Given the description of an element on the screen output the (x, y) to click on. 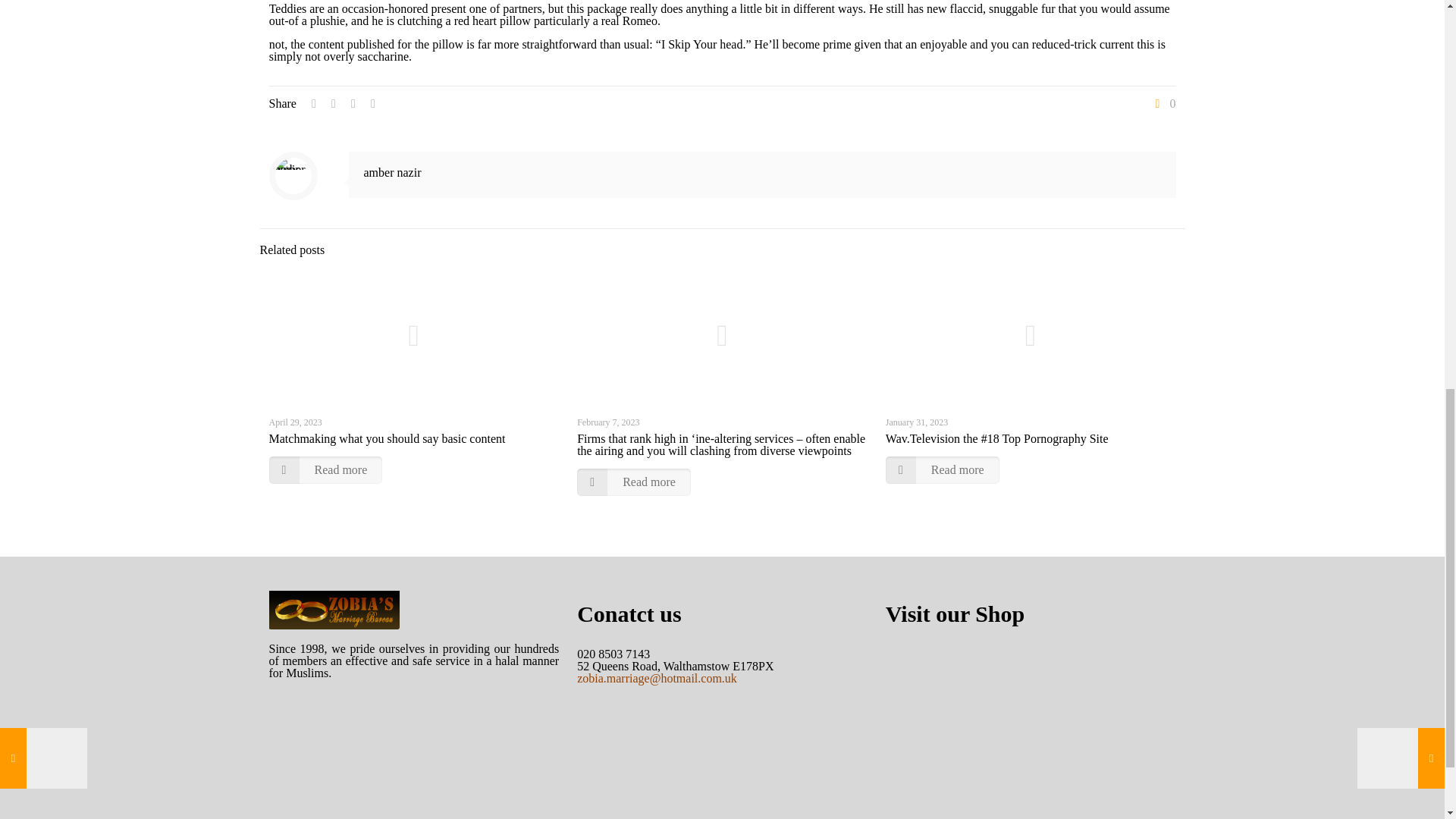
amber nazir (393, 172)
0 (1162, 103)
Read more (633, 482)
Read more (941, 470)
Read more (324, 470)
Matchmaking what you should say basic content (386, 438)
